Given the description of an element on the screen output the (x, y) to click on. 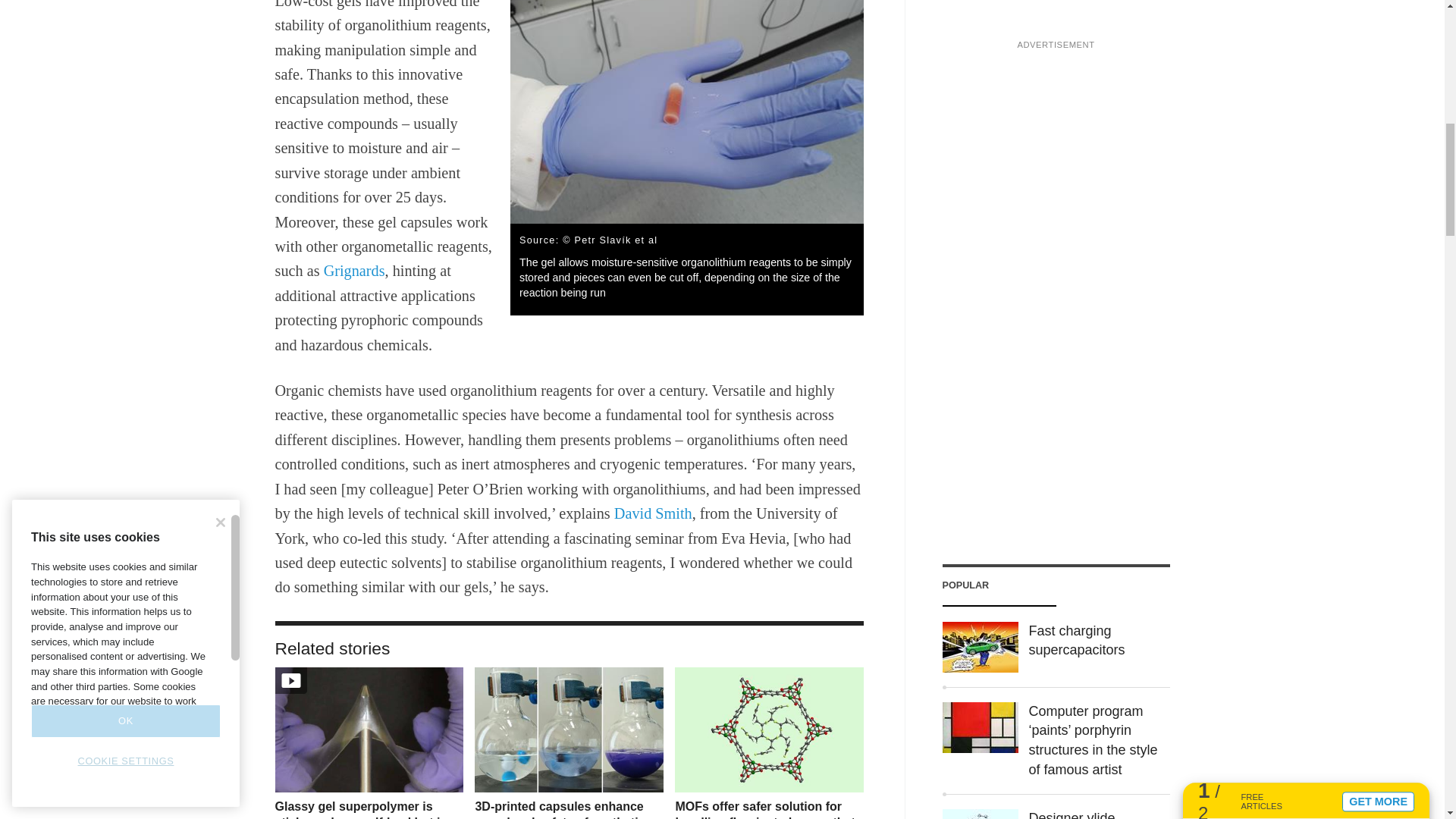
3rd party ad content (1055, 60)
